Given the description of an element on the screen output the (x, y) to click on. 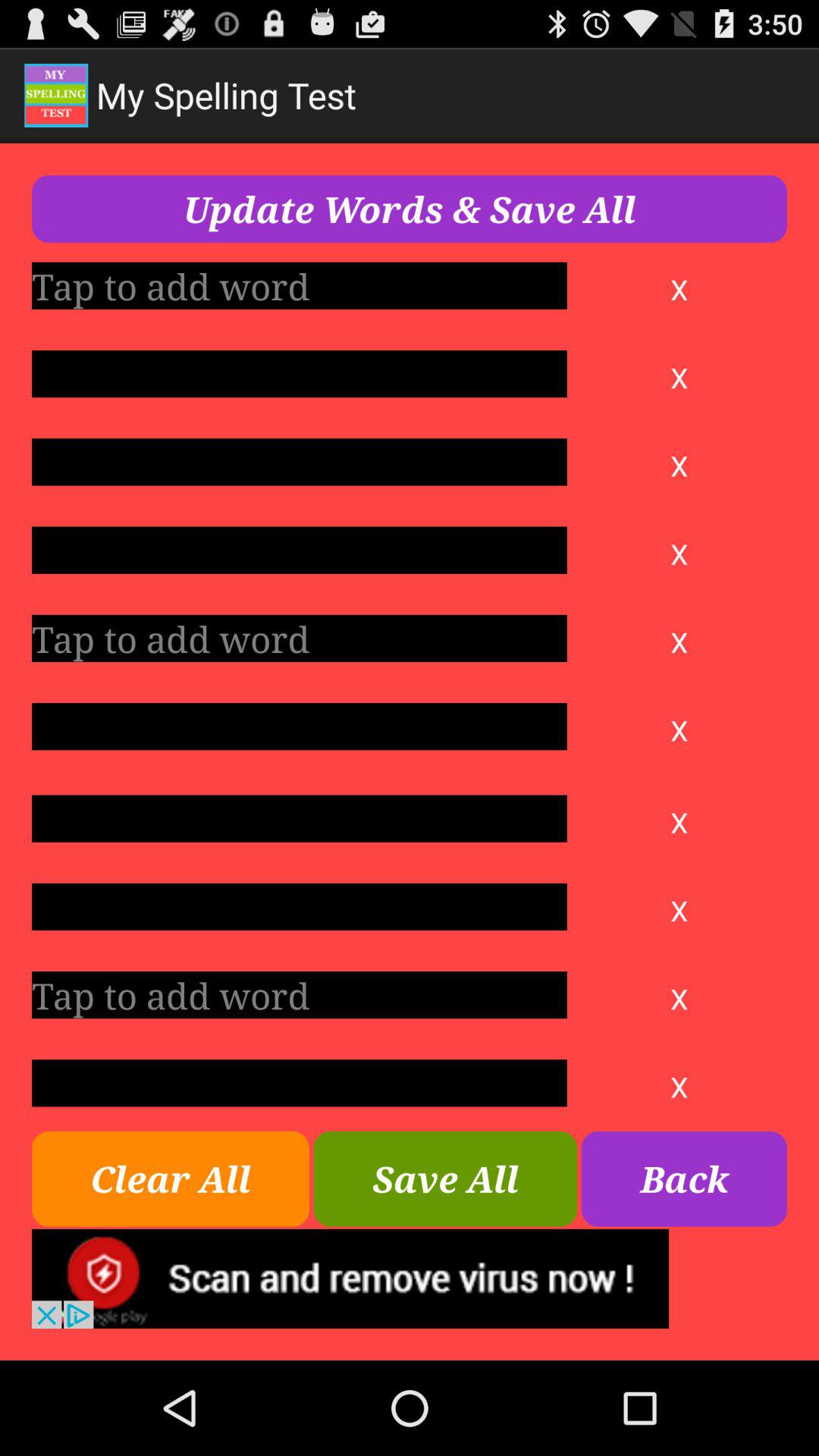
tap to add (299, 285)
